Given the description of an element on the screen output the (x, y) to click on. 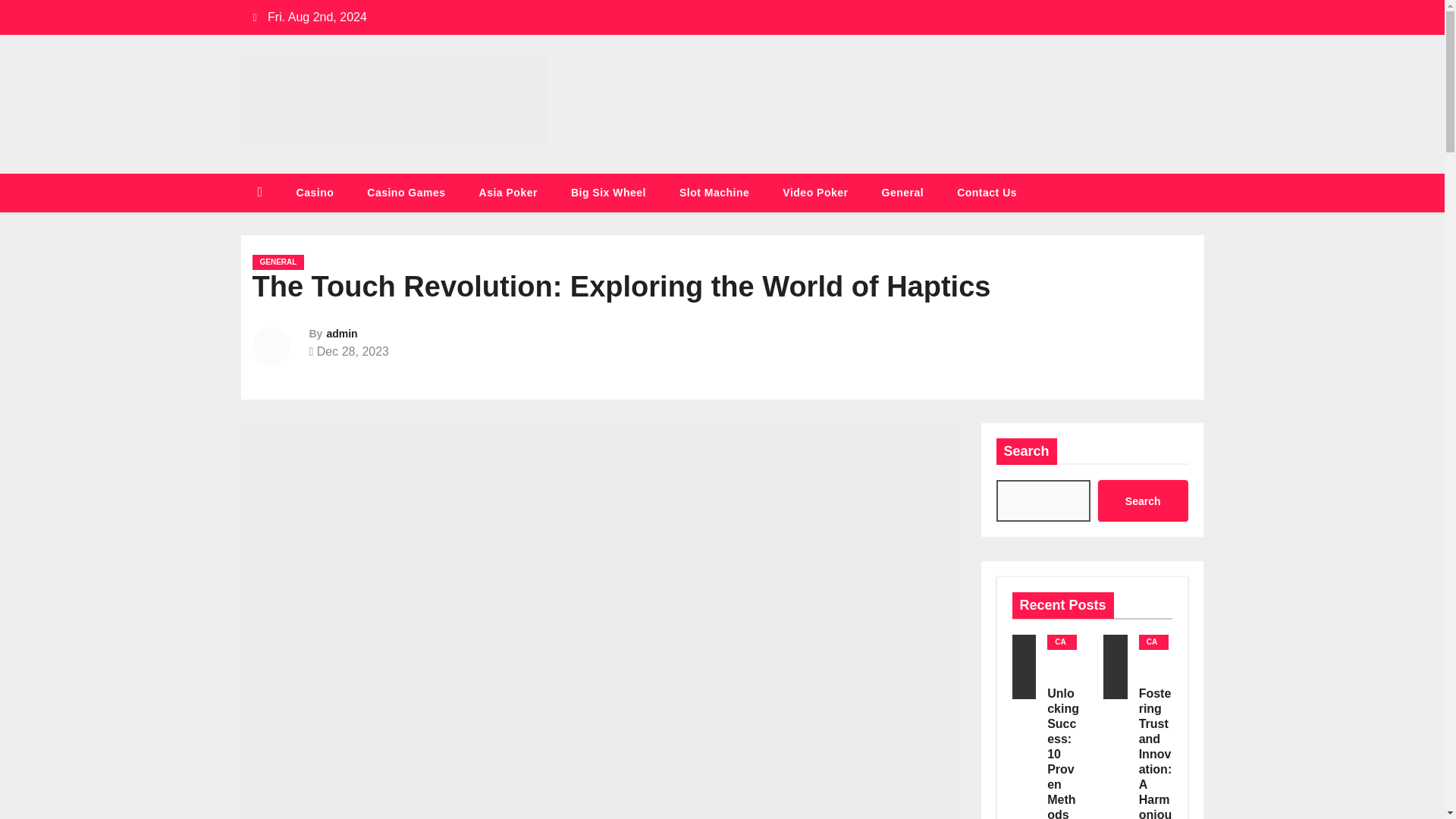
Contact Us (986, 192)
General (902, 192)
Big Six Wheel (608, 192)
Home (260, 192)
Casino Games (405, 192)
Asia Poker (508, 192)
GENERAL (277, 262)
admin (341, 333)
Casino Games (405, 192)
Casino (314, 192)
Slot Machine (713, 192)
Casino (314, 192)
Video Poker (814, 192)
